Given the description of an element on the screen output the (x, y) to click on. 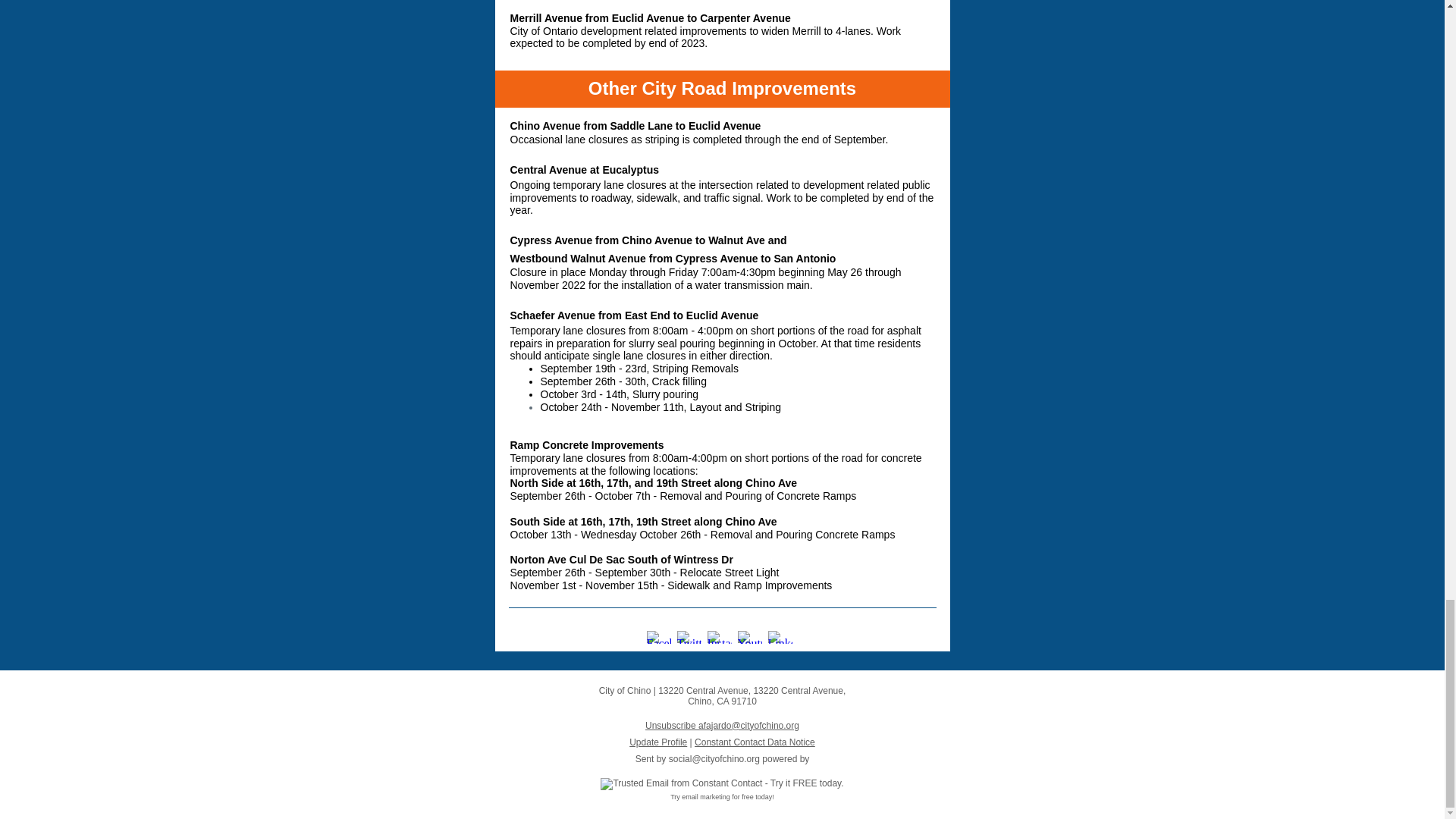
Try email marketing for free today! (721, 796)
Constant Contact Data Notice (754, 742)
Update Profile (657, 742)
